Given the description of an element on the screen output the (x, y) to click on. 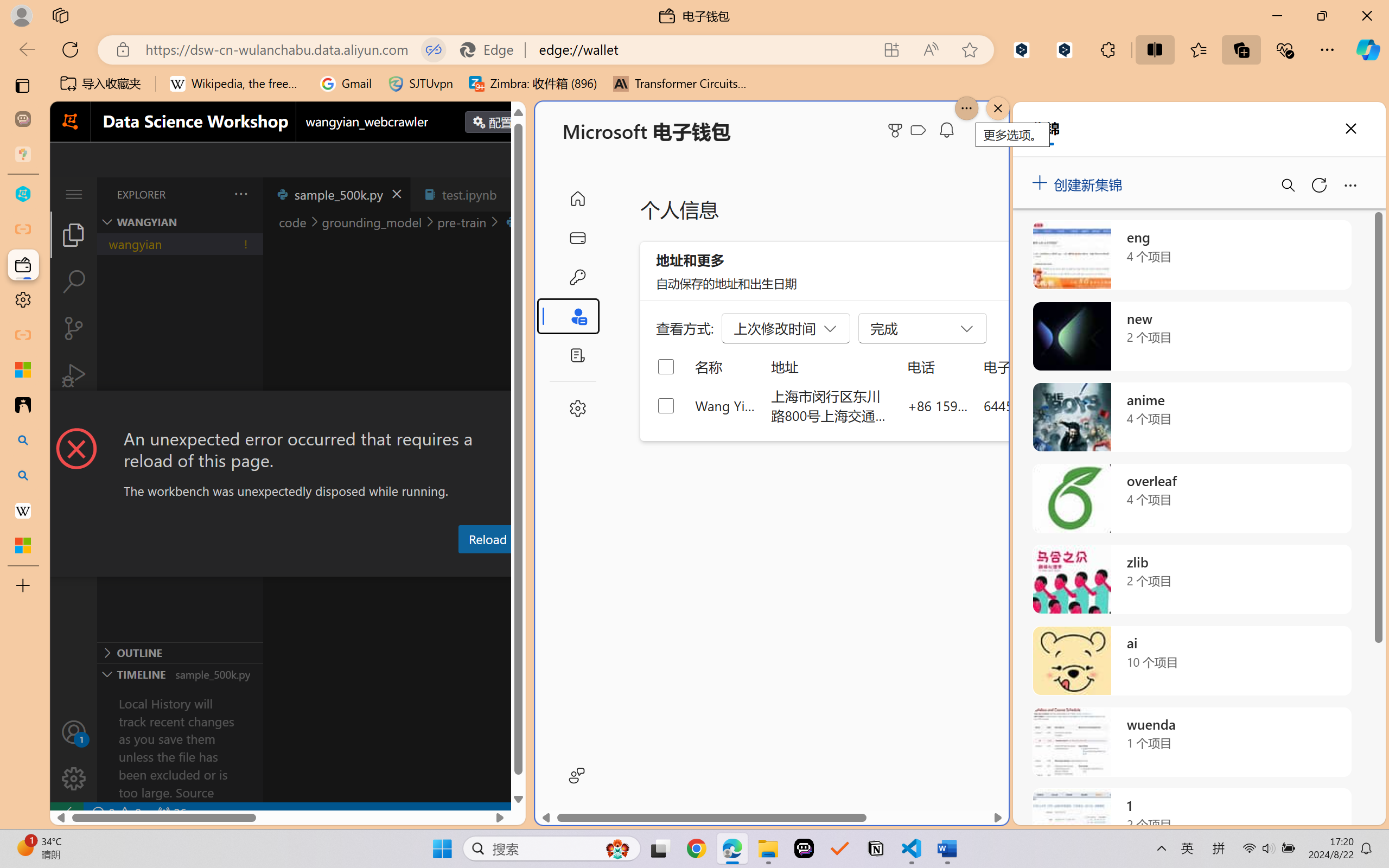
Tab actions (512, 194)
